Given the description of an element on the screen output the (x, y) to click on. 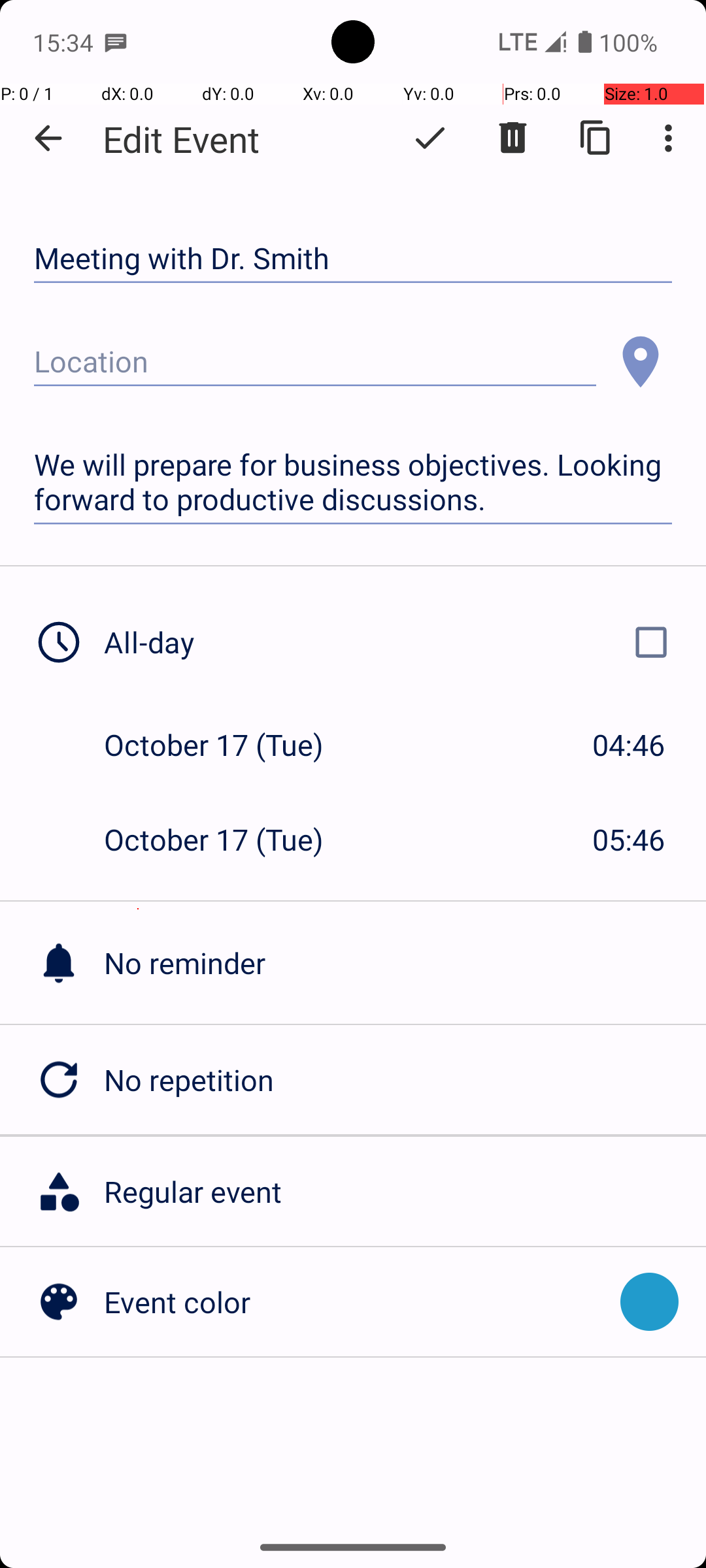
We will prepare for business objectives. Looking forward to productive discussions. Element type: android.widget.EditText (352, 482)
October 17 (Tue) Element type: android.widget.TextView (227, 744)
04:46 Element type: android.widget.TextView (628, 744)
05:46 Element type: android.widget.TextView (628, 838)
